Given the description of an element on the screen output the (x, y) to click on. 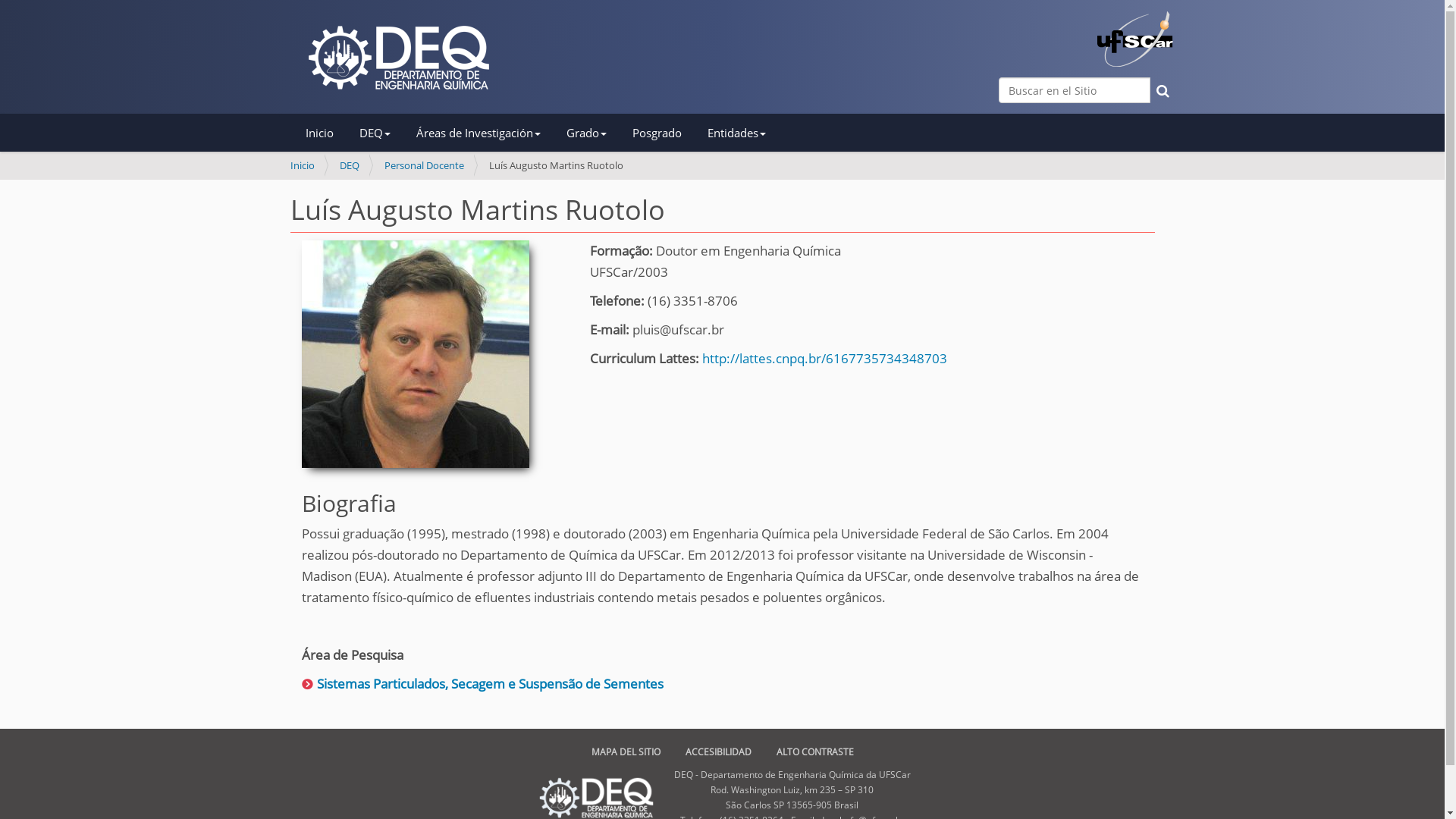
Personal Docente Element type: text (423, 165)
DEQ Element type: text (349, 165)
Buscar en el Sitio Element type: hover (1073, 90)
http://lattes.cnpq.br/6167735734348703 Element type: text (824, 358)
Inicio Element type: text (301, 165)
Portal UFSCar Element type: hover (1134, 38)
Grado Element type: text (595, 132)
DEQ Element type: text (382, 132)
MAPA DEL SITIO Element type: text (625, 751)
ACCESIBILIDAD Element type: text (718, 751)
Inicio Element type: text (328, 132)
Entidades Element type: text (745, 132)
ALTO CONTRASTE Element type: text (814, 751)
Posgrado Element type: text (664, 132)
